Given the description of an element on the screen output the (x, y) to click on. 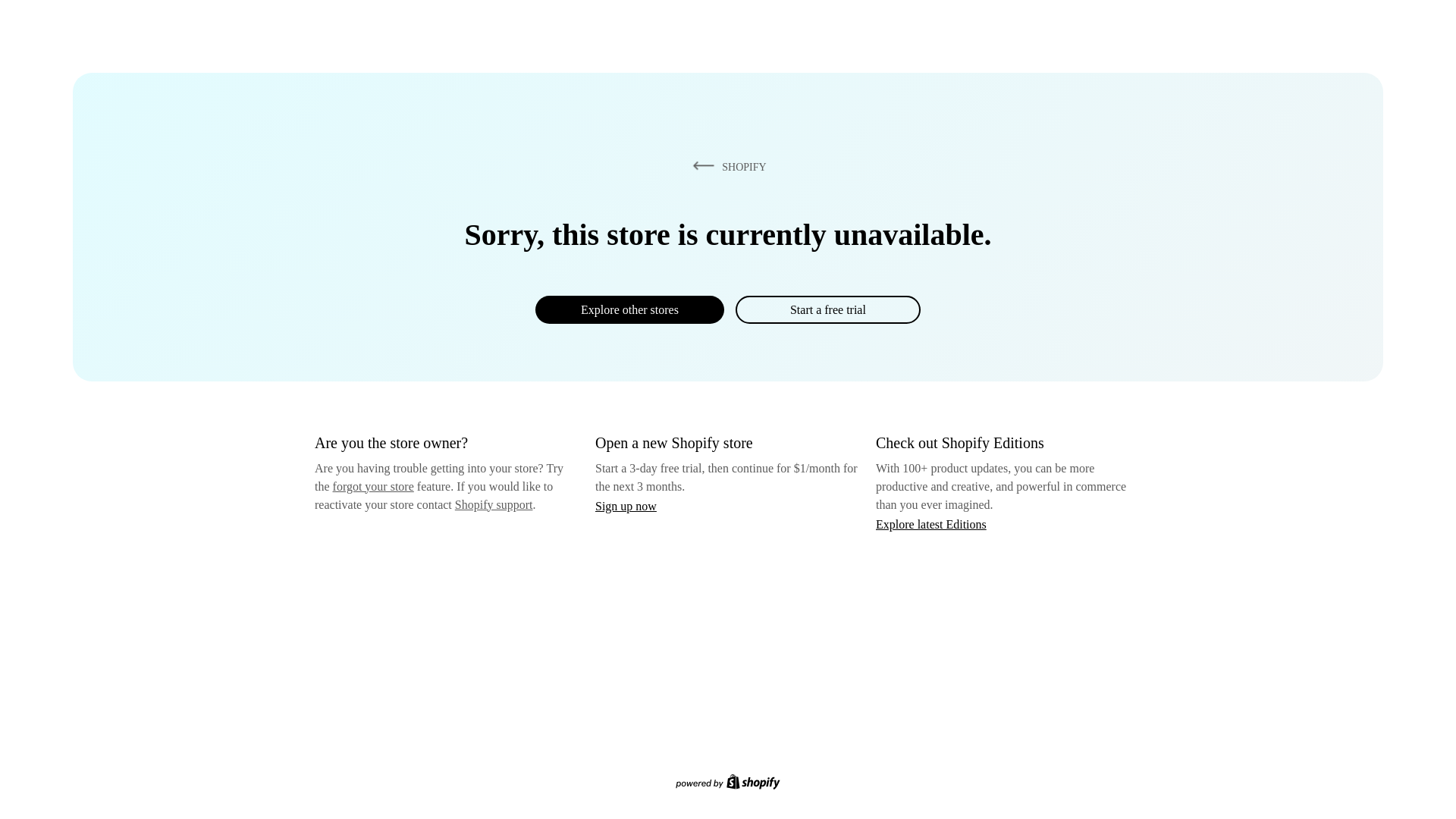
Explore latest Editions (931, 523)
forgot your store (373, 486)
Sign up now (625, 505)
SHOPIFY (726, 166)
Explore other stores (629, 309)
Shopify support (493, 504)
Start a free trial (827, 309)
